Given the description of an element on the screen output the (x, y) to click on. 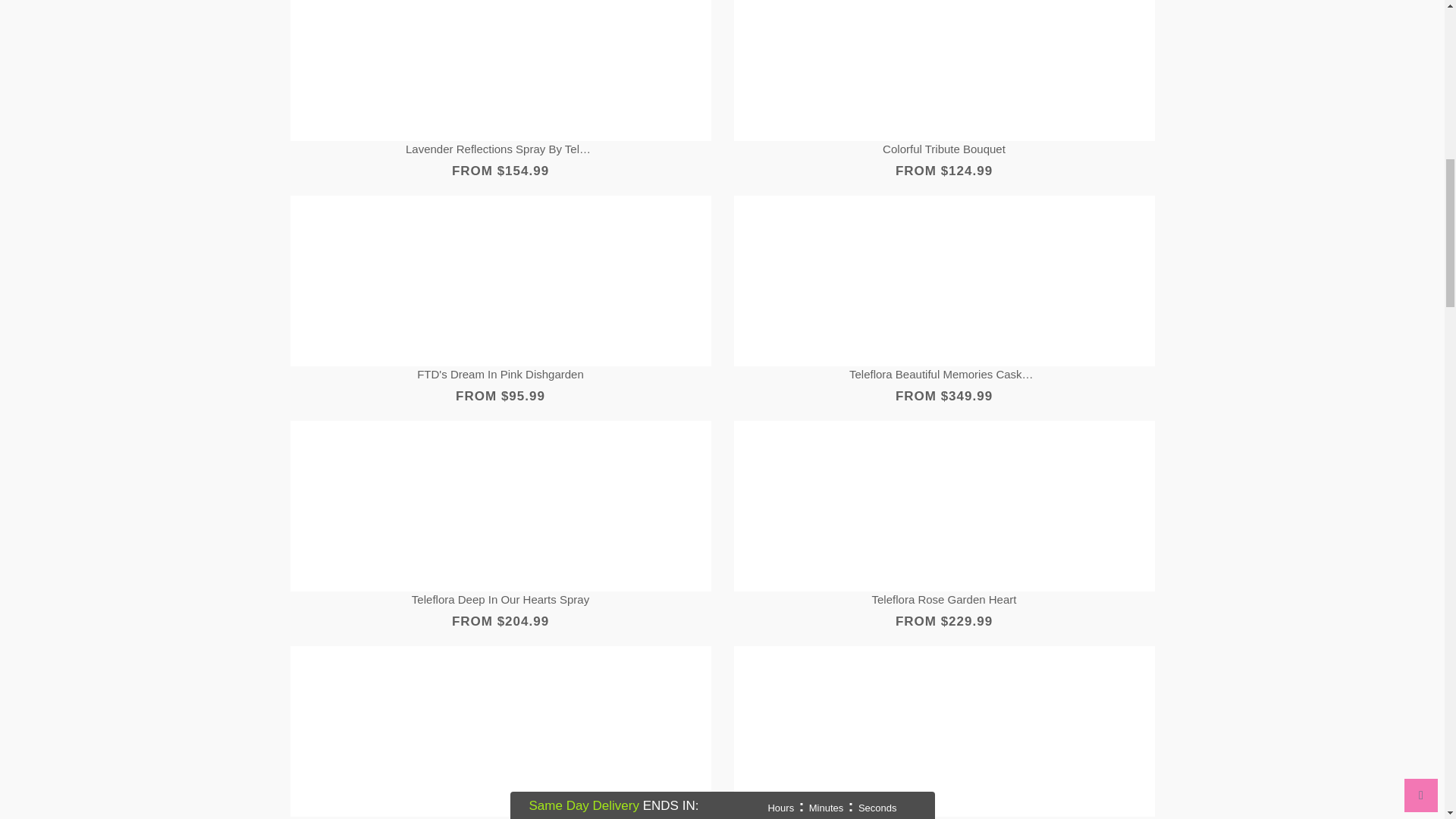
FTD's Dream in Pink Dishgarden (500, 375)
Forever In Our Hearts Cremation Tribute (943, 817)
Teleflora Deep In Our Hearts Spray (500, 600)
Teleflora Beautiful Memories Casket Spray (943, 375)
Lavender Reflections Spray by teleflora (500, 149)
Teleflora Rose Garden Heart (943, 600)
Colorful Tribute Bouquet (943, 149)
Teleflora Sacred Solace Cremation Tribute (500, 817)
